Given the description of an element on the screen output the (x, y) to click on. 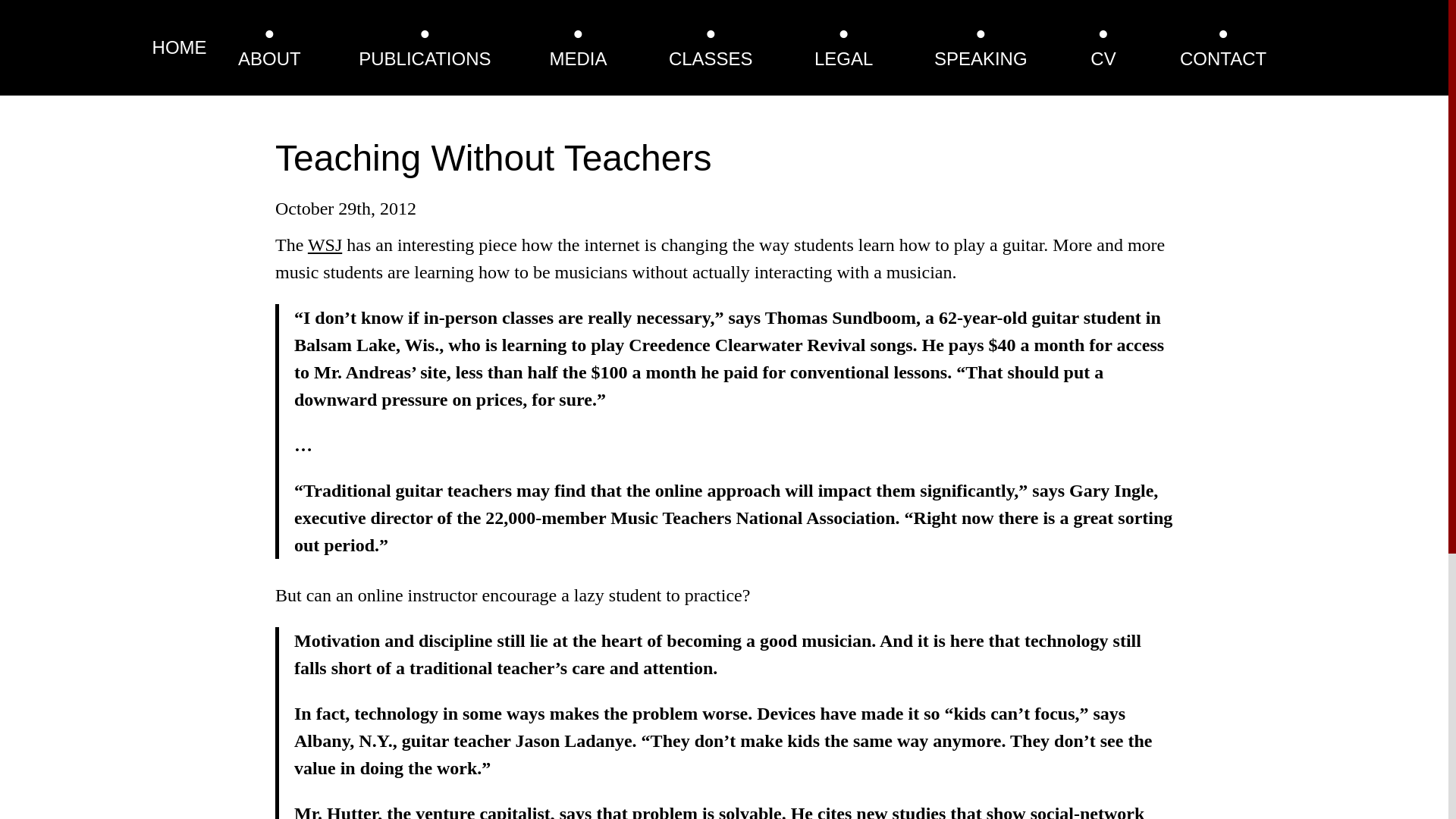
MEDIA (577, 58)
Permanent Link to Teaching Without Teachers (493, 158)
CV (1102, 58)
LEGAL (842, 58)
Teaching Without Teachers (493, 158)
HOME (179, 47)
CONTACT (1222, 58)
SPEAKING (980, 58)
ABOUT (269, 58)
PUBLICATIONS (424, 58)
